Given the description of an element on the screen output the (x, y) to click on. 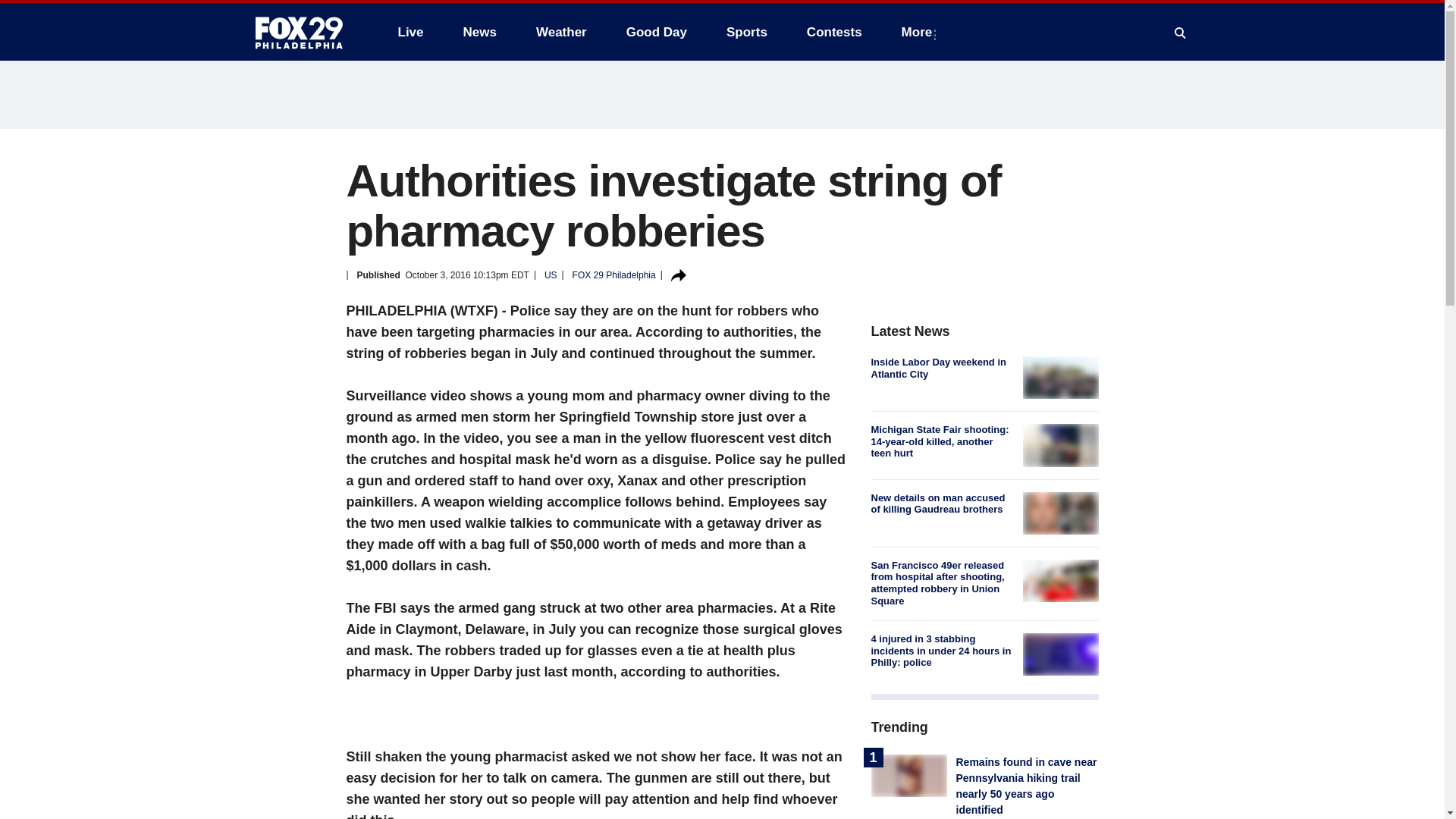
News (479, 32)
Good Day (656, 32)
Live (410, 32)
Weather (561, 32)
Sports (746, 32)
More (919, 32)
Contests (834, 32)
